Given the description of an element on the screen output the (x, y) to click on. 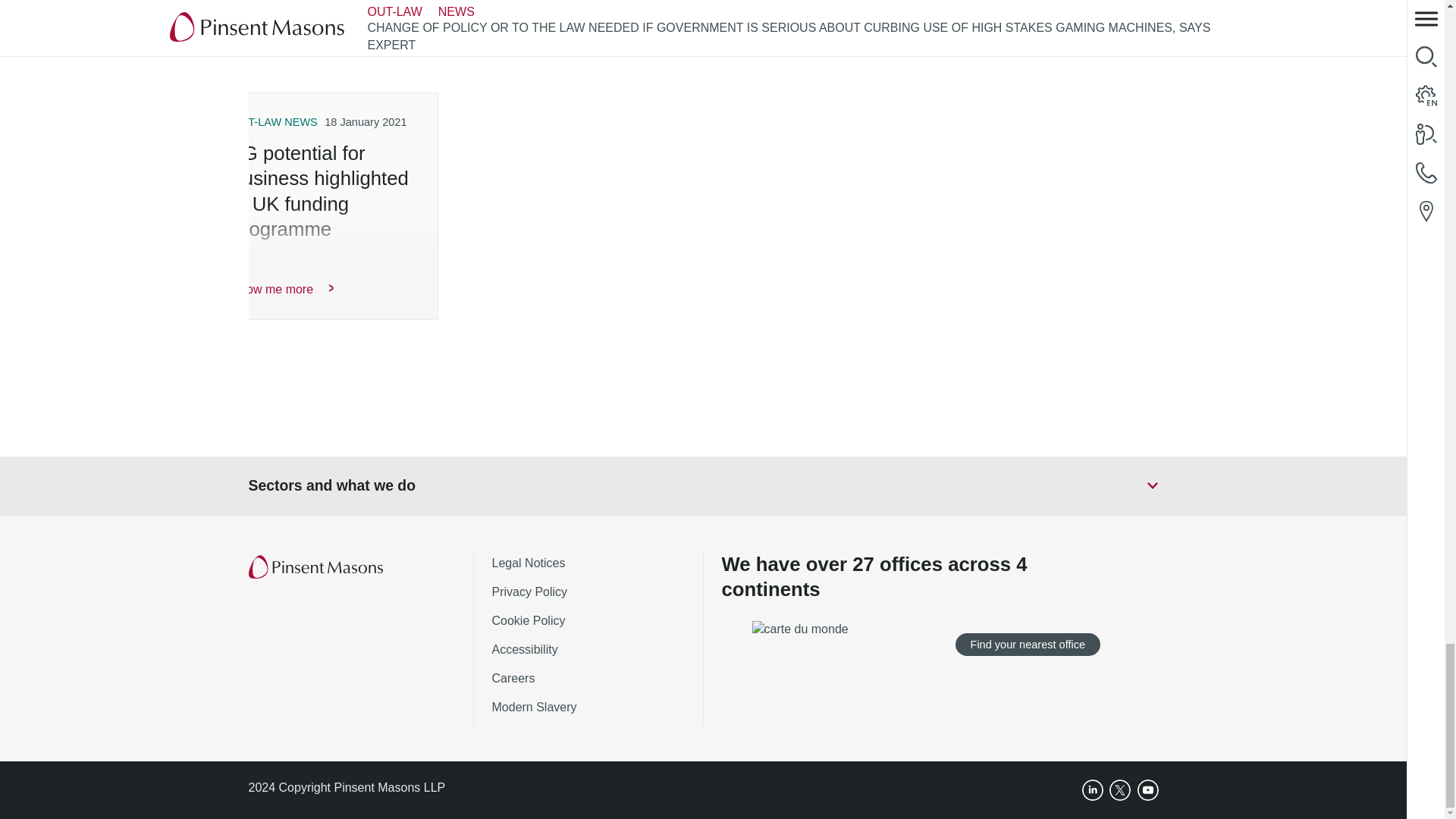
Pinsent Masons LinkedIn (1092, 789)
Pinsent Masons (316, 567)
Pinsent Masons Twitter (1120, 789)
